Given the description of an element on the screen output the (x, y) to click on. 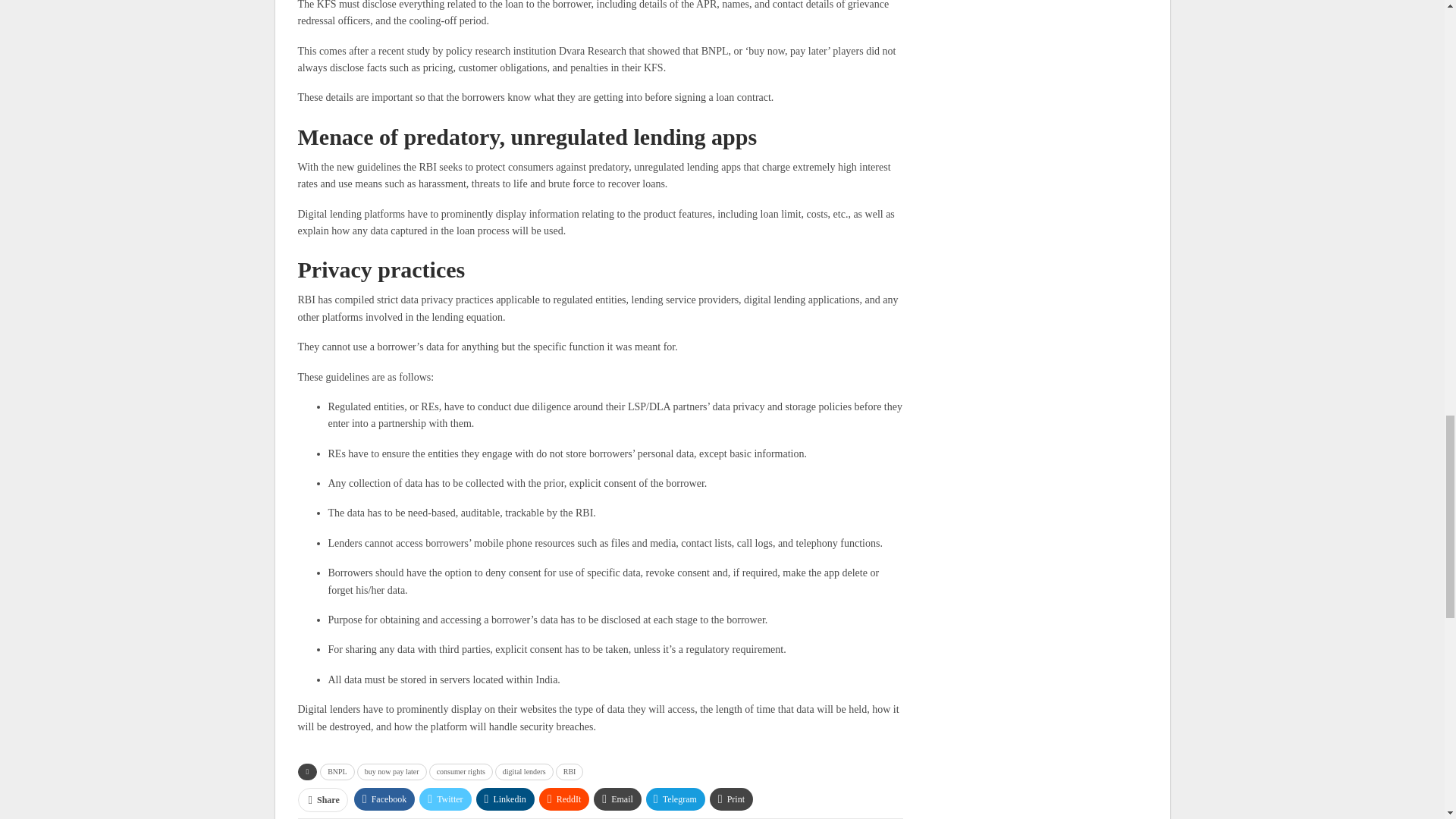
RBI (569, 771)
Facebook (383, 798)
buy now pay later (391, 771)
digital lenders (524, 771)
consumer rights (461, 771)
BNPL (337, 771)
